Given the description of an element on the screen output the (x, y) to click on. 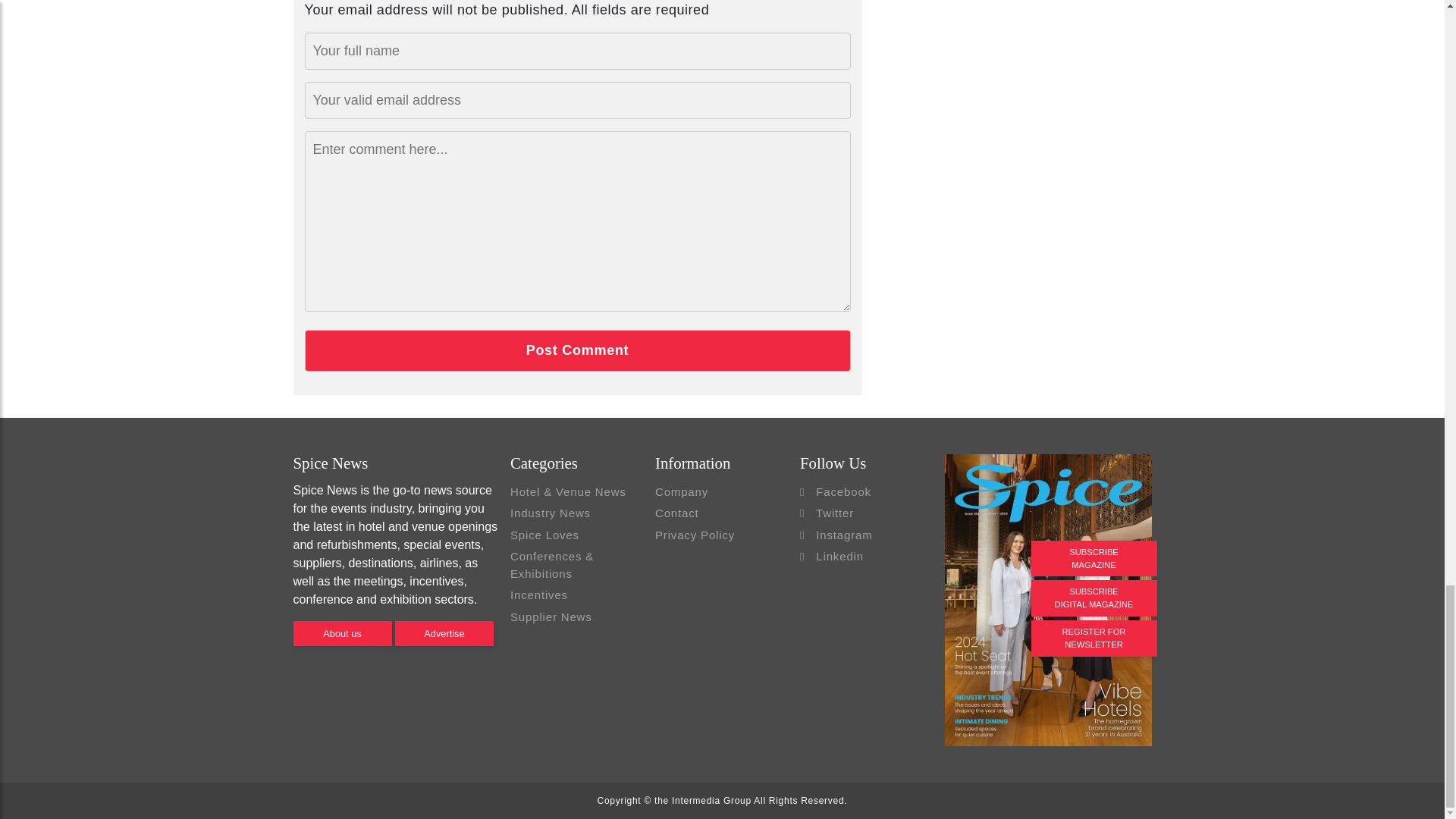
Post Comment (577, 350)
